Given the description of an element on the screen output the (x, y) to click on. 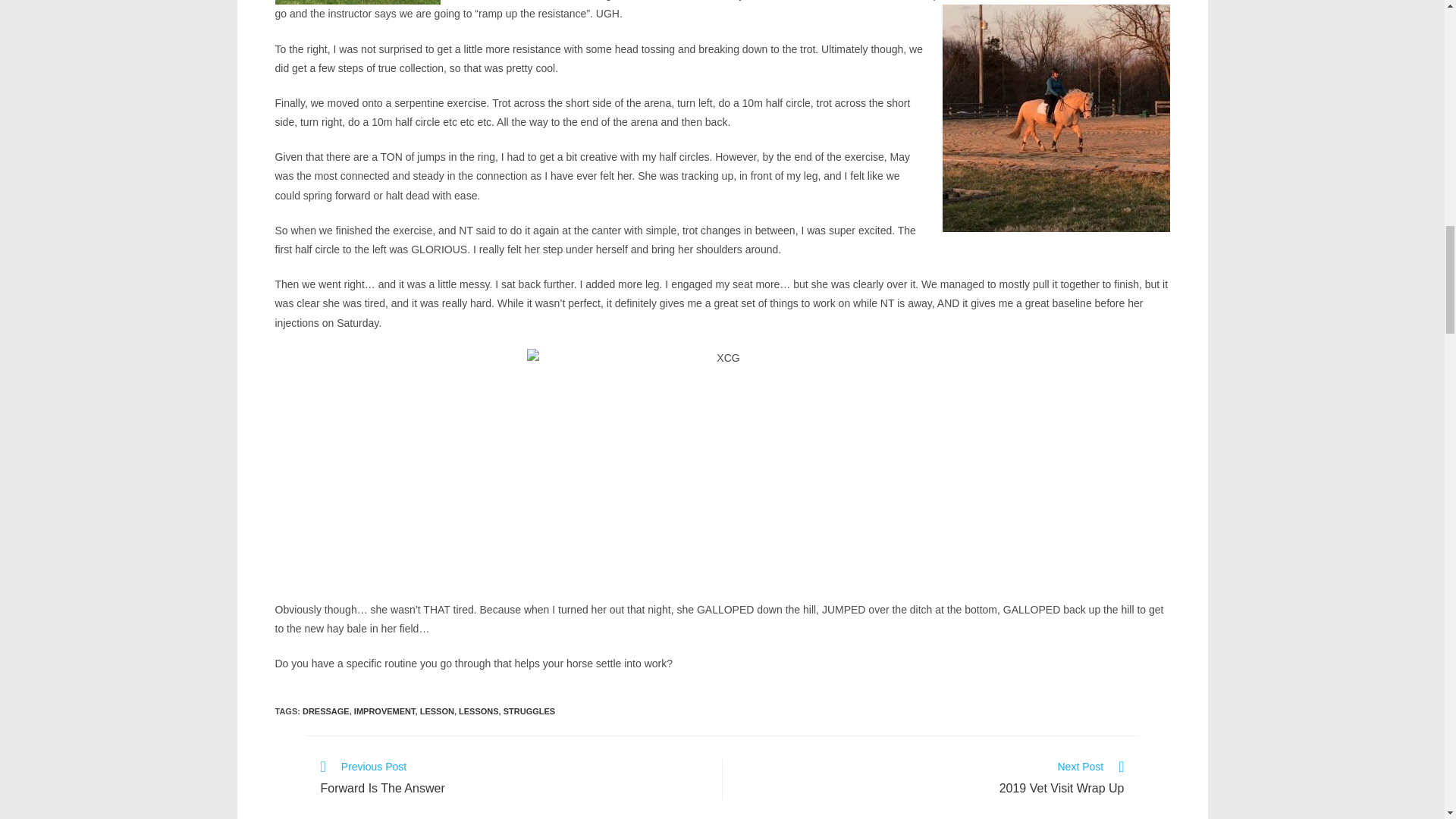
LESSON (437, 710)
DRESSAGE (325, 710)
IMPROVEMENT (383, 710)
LESSONS (513, 779)
STRUGGLES (478, 710)
